Given the description of an element on the screen output the (x, y) to click on. 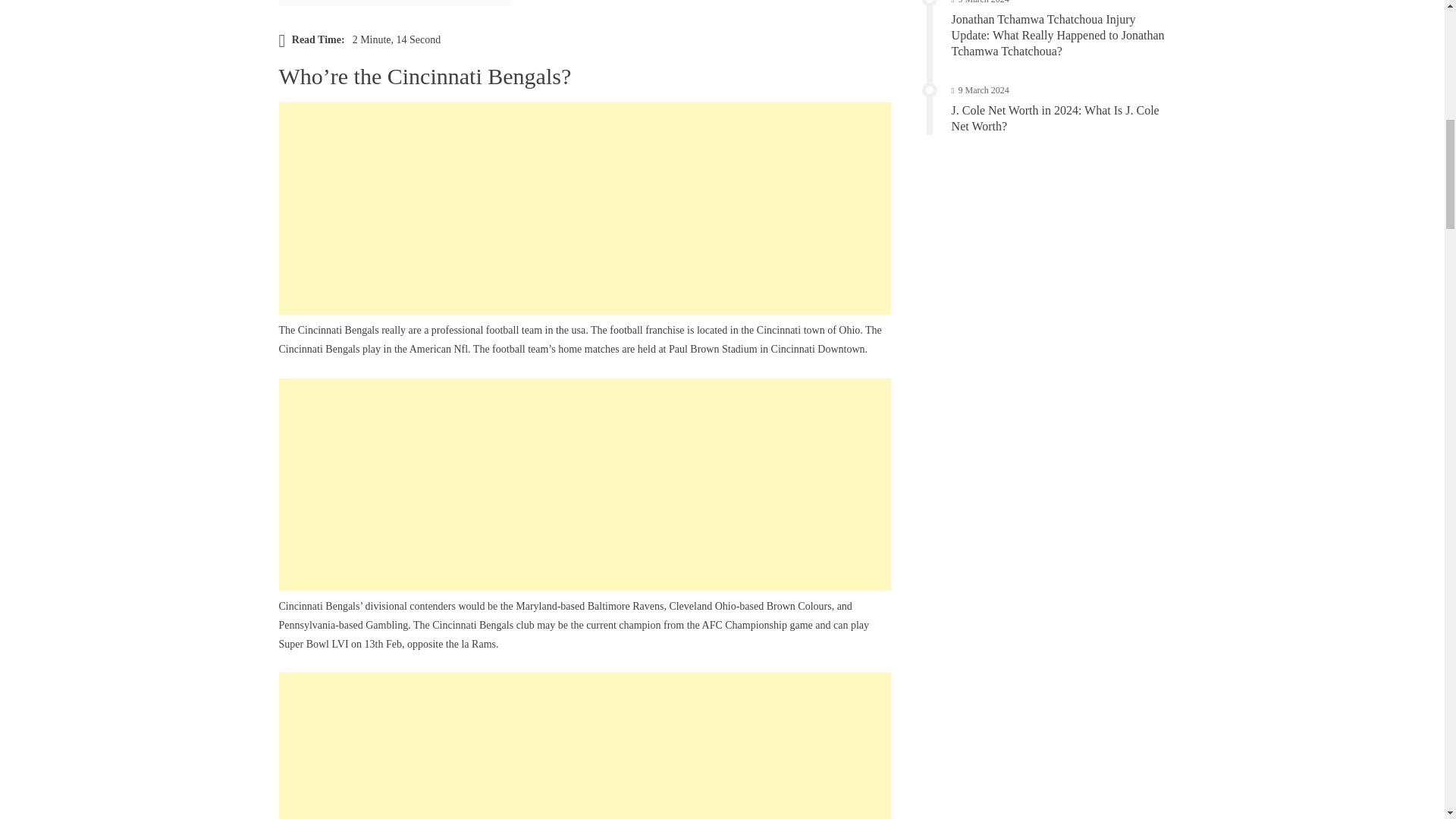
Advertisement (585, 208)
Advertisement (585, 745)
Advertisement (585, 484)
